Given the description of an element on the screen output the (x, y) to click on. 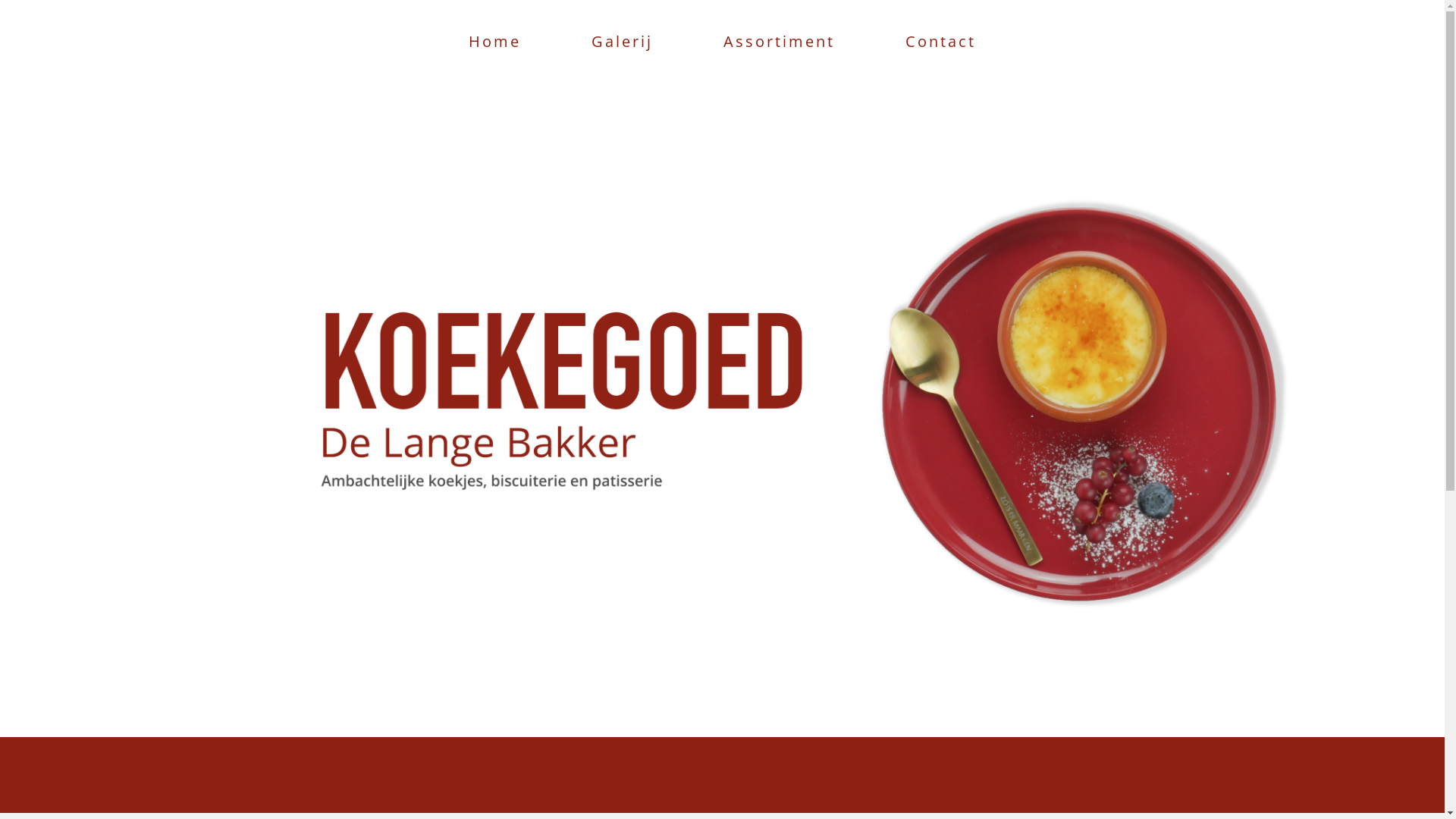
Contact Element type: text (940, 40)
Galerij Element type: text (621, 40)
Home Element type: text (494, 40)
Assortiment Element type: text (778, 40)
